Given the description of an element on the screen output the (x, y) to click on. 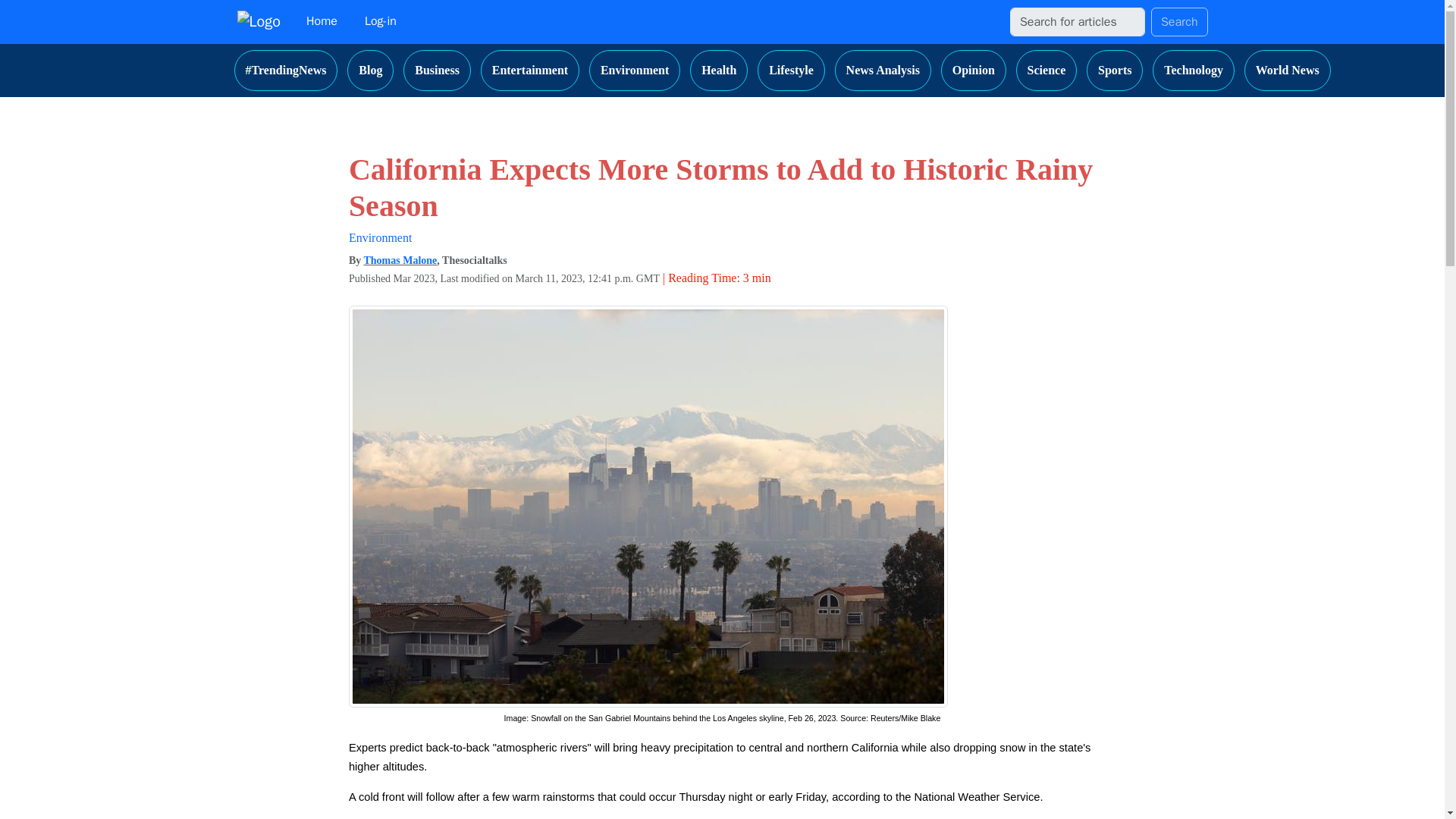
Home (321, 21)
Environment (634, 69)
Technology (1193, 69)
Health (719, 69)
Lifestyle (791, 69)
World News (1287, 69)
Log-in (380, 21)
Business (436, 69)
Blog (370, 69)
Environment (380, 237)
